Given the description of an element on the screen output the (x, y) to click on. 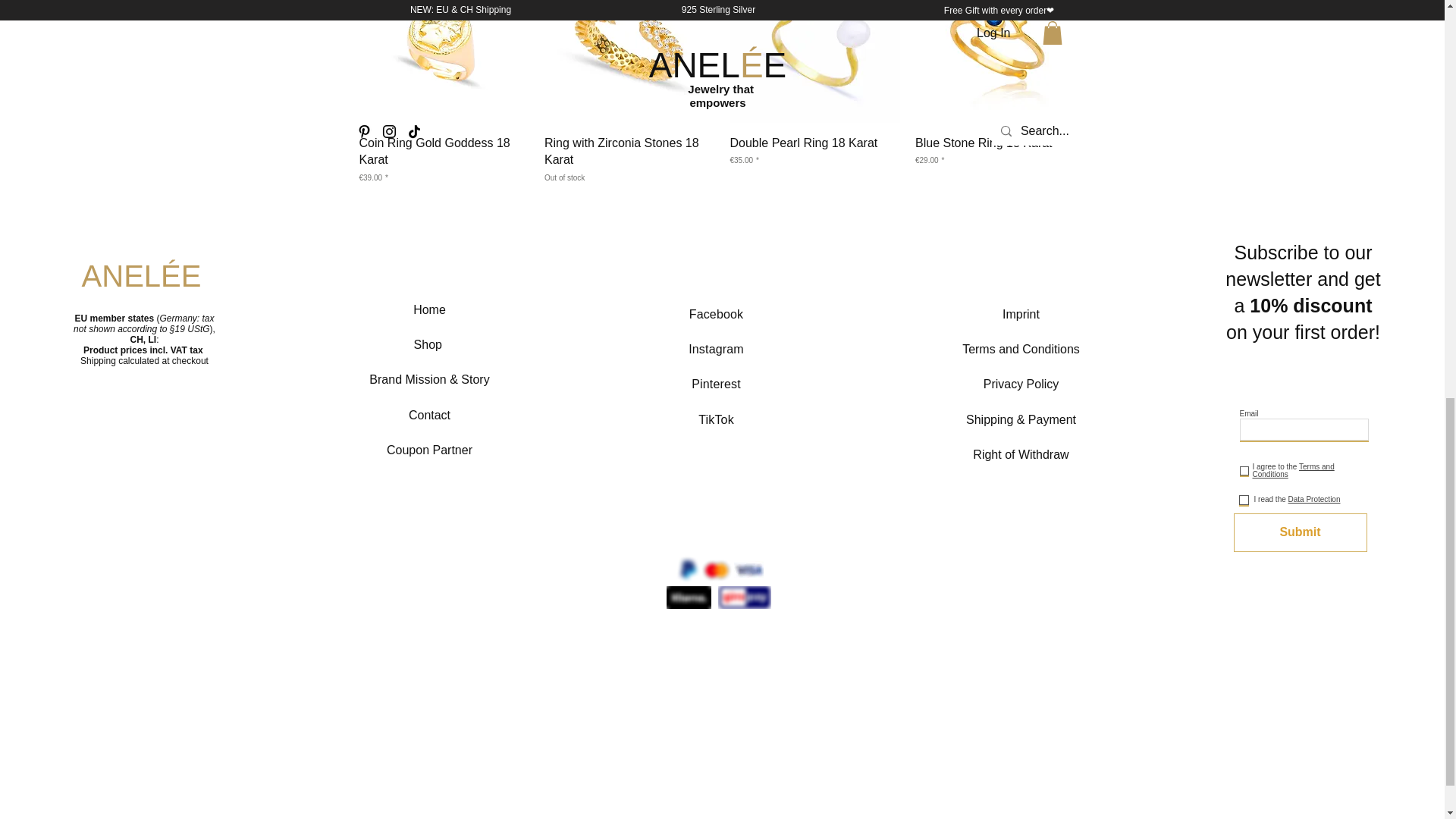
Bestseller (629, 159)
